Given the description of an element on the screen output the (x, y) to click on. 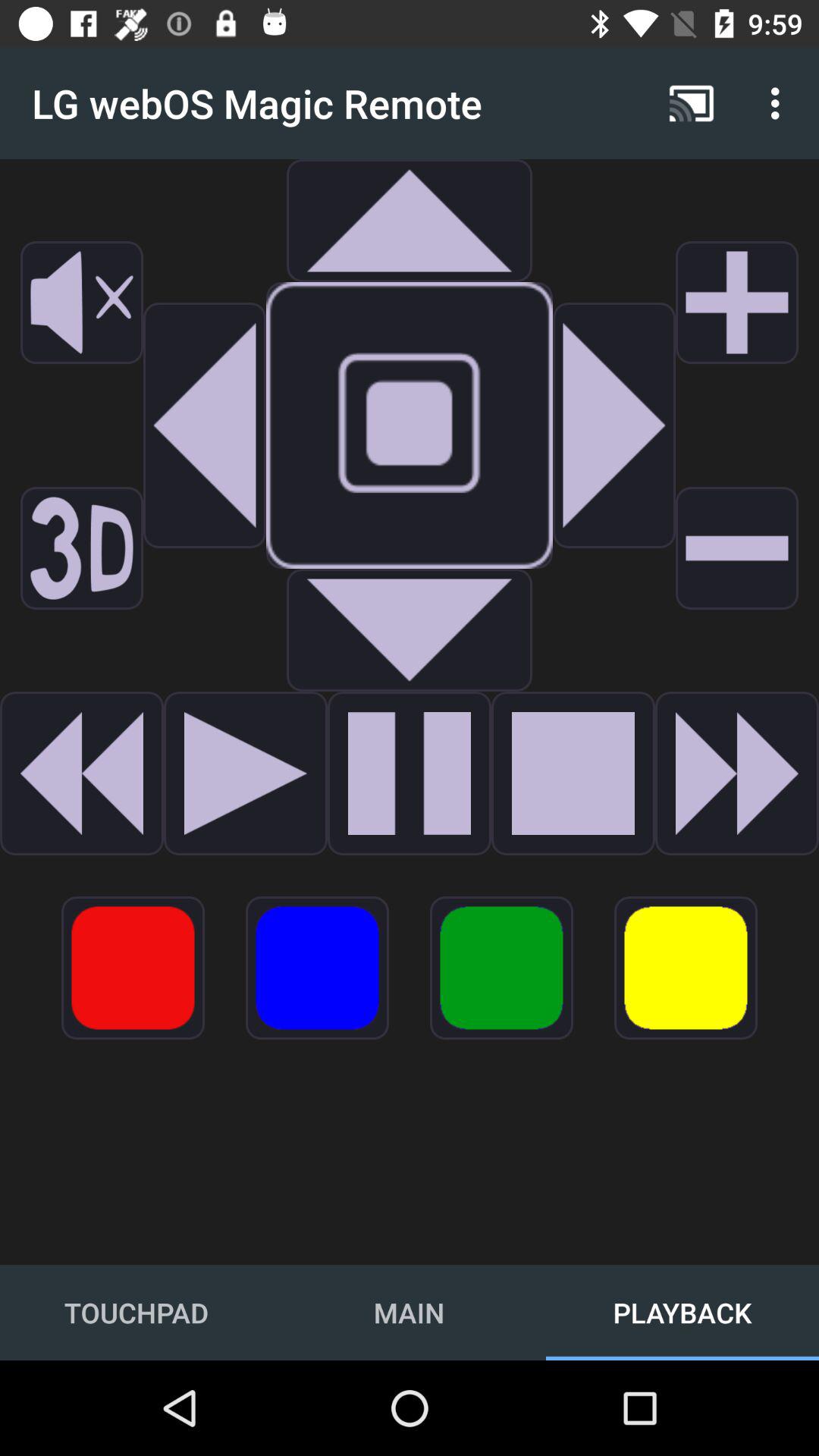
go next (245, 773)
